Given the description of an element on the screen output the (x, y) to click on. 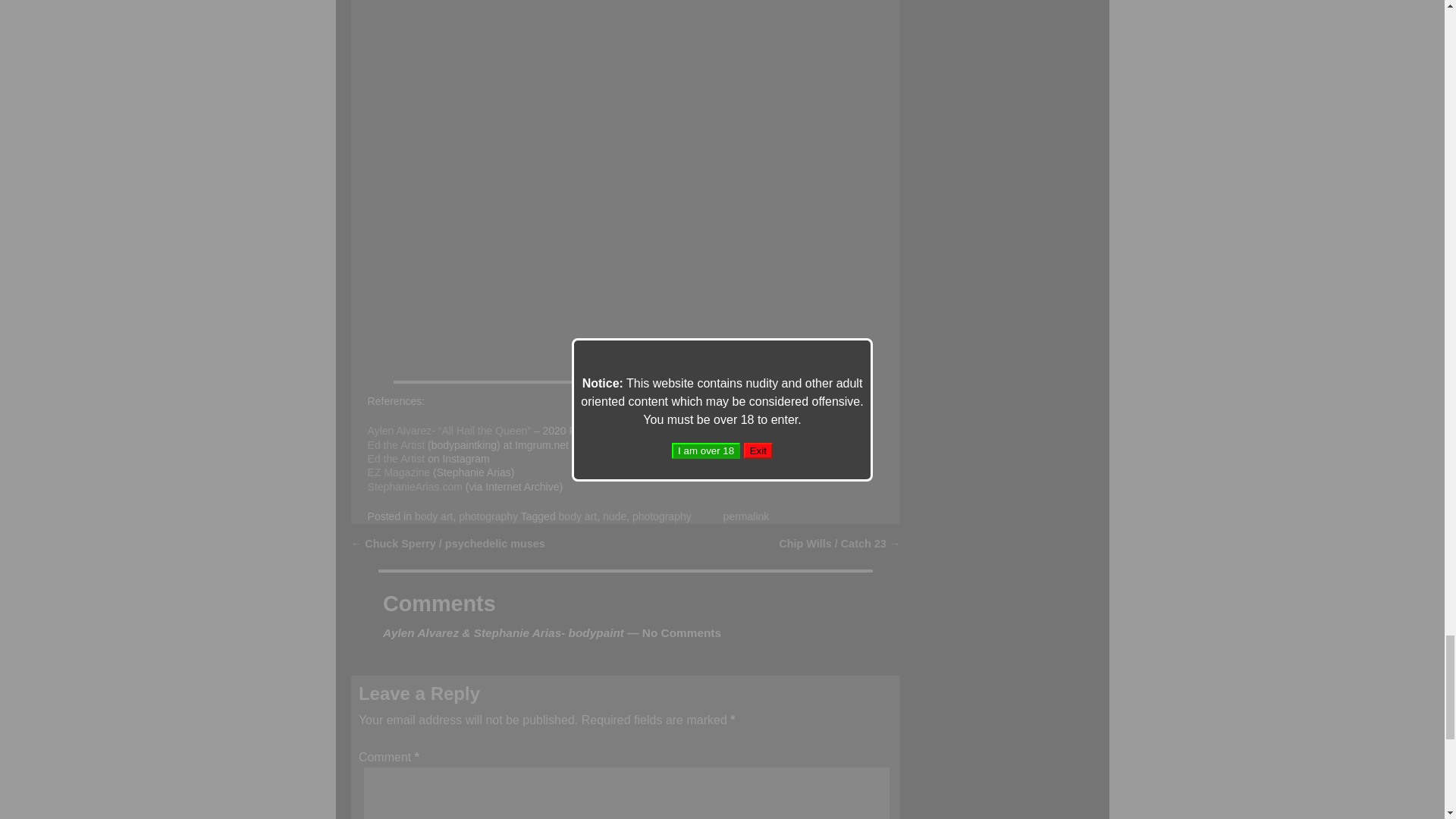
permalink (746, 516)
EZ Magazine (398, 472)
photography (661, 516)
StephanieArias.com (415, 486)
Ed the Artist (396, 458)
body art (433, 516)
body art (577, 516)
Ed the Artist (396, 444)
nude (614, 516)
photography (488, 516)
